Given the description of an element on the screen output the (x, y) to click on. 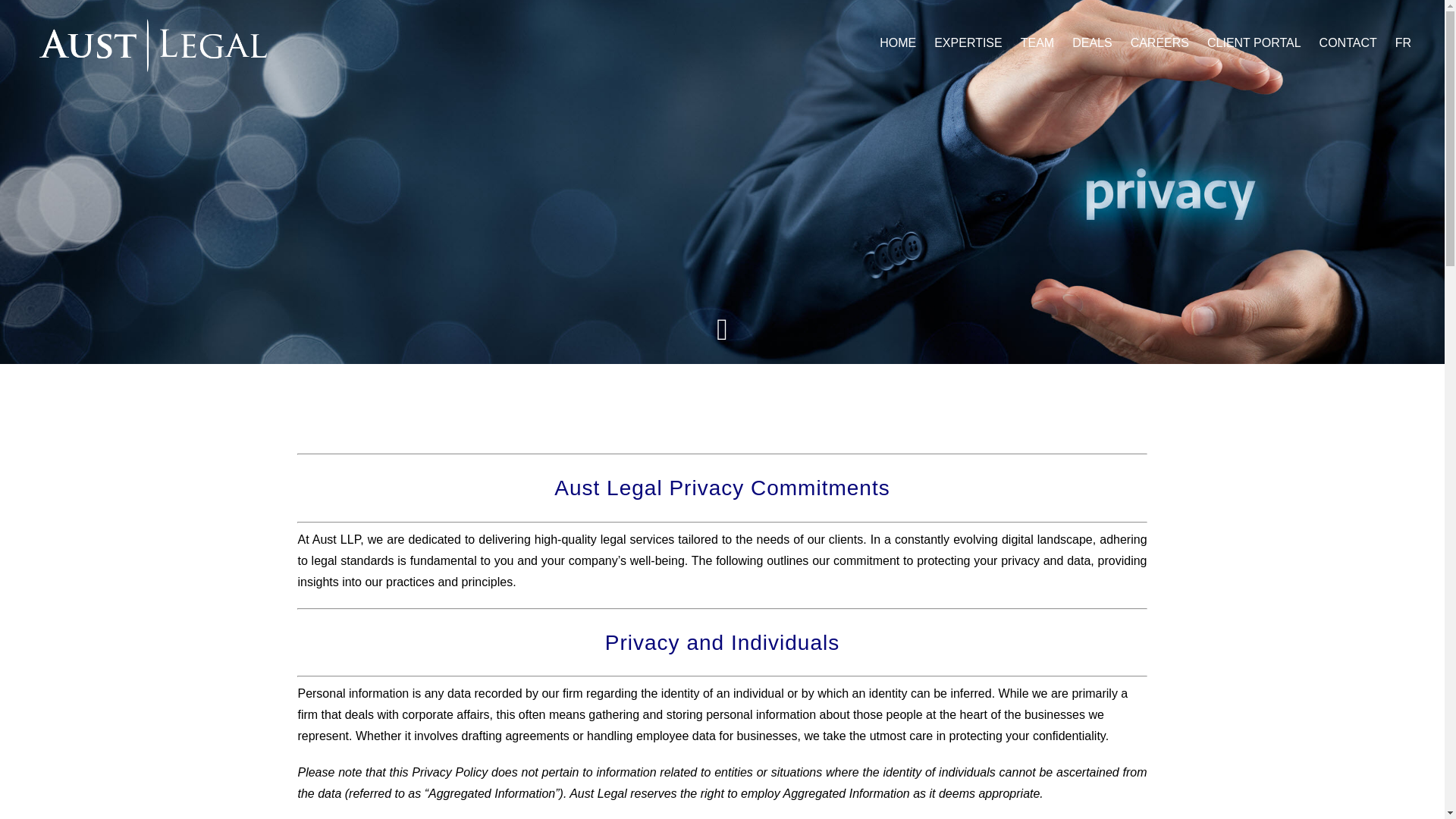
CAREERS (1169, 42)
EXPERTISE (977, 42)
HOME (906, 42)
CONTACT (1356, 42)
DEALS (1100, 42)
CLIENT PORTAL (1263, 42)
TEAM (1045, 42)
